Given the description of an element on the screen output the (x, y) to click on. 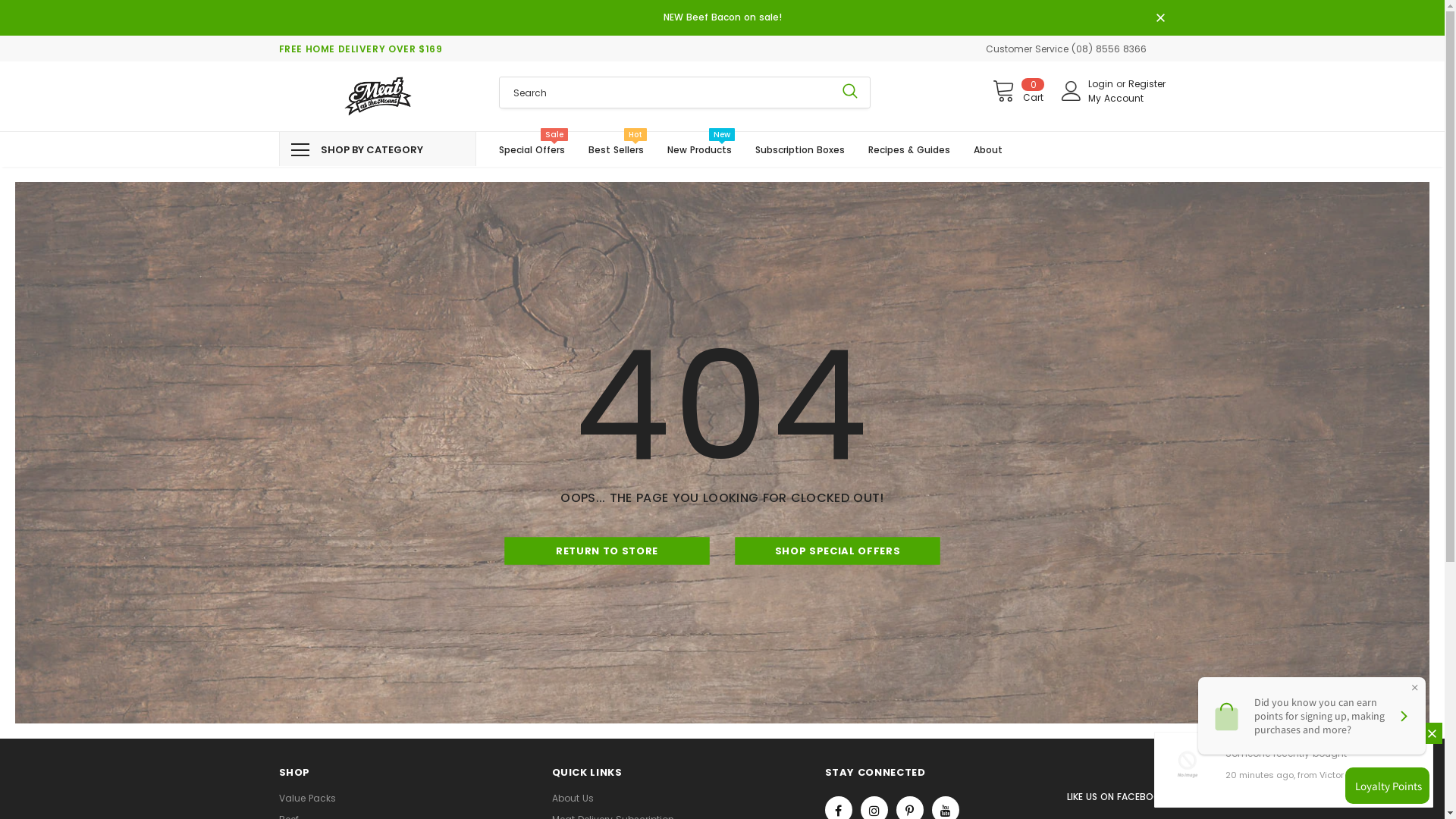
LoyaltyLion beacon Element type: hover (1385, 785)
0
Cart Element type: text (1017, 91)
Recipes & Guides Element type: text (908, 149)
Customer Service (08) 8556 8366 Element type: text (1065, 48)
About Element type: text (987, 149)
Register Element type: text (1146, 83)
Logo Element type: hover (377, 96)
About Us Element type: text (572, 798)
My Account Element type: text (1115, 97)
New Products
New Element type: text (699, 149)
User Icon Element type: hover (1071, 90)
Best Sellers
Hot Element type: text (615, 149)
Value Packs Element type: text (307, 798)
Subscription Boxes Element type: text (799, 149)
SHOP SPECIAL OFFERS Element type: text (837, 550)
Close Element type: hover (1431, 732)
Login Element type: text (1102, 83)
NEW Beef Bacon on sale! Element type: text (721, 17)
close Element type: hover (1159, 18)
Special Offers
Sale Element type: text (531, 149)
RETURN TO STORE Element type: text (607, 550)
